Given the description of an element on the screen output the (x, y) to click on. 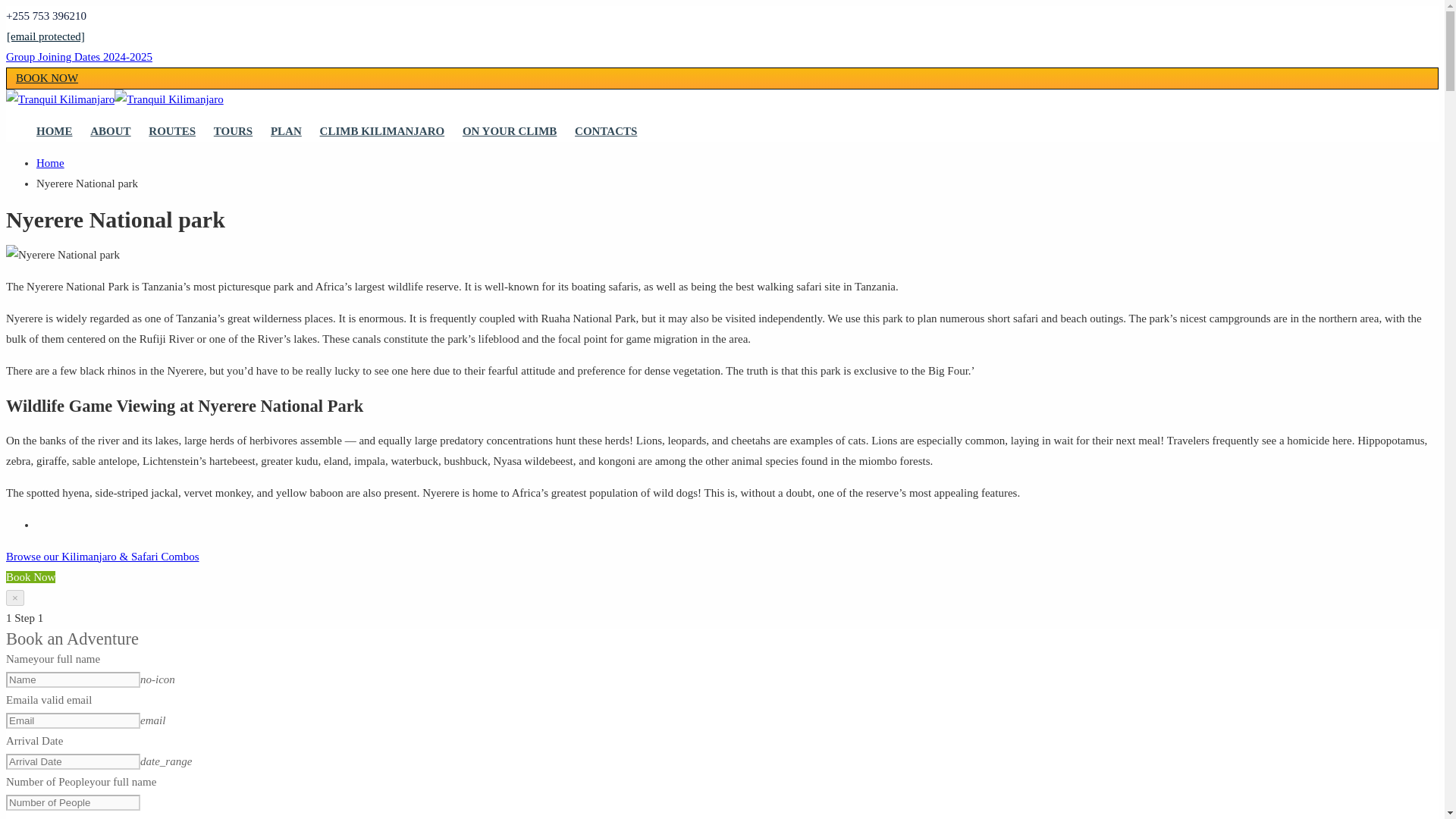
ABOUT (110, 131)
ROUTES (171, 131)
Mount Kilimanjaro Climbing Routes, Prices, Gear, Preparation (168, 99)
TOURS (232, 131)
Mount Kilimanjaro Climbing Routes, Prices, Gear, Preparation (60, 99)
HOME (54, 131)
BOOK NOW (46, 78)
Group Joining Dates 2024-2025 (78, 56)
